Given the description of an element on the screen output the (x, y) to click on. 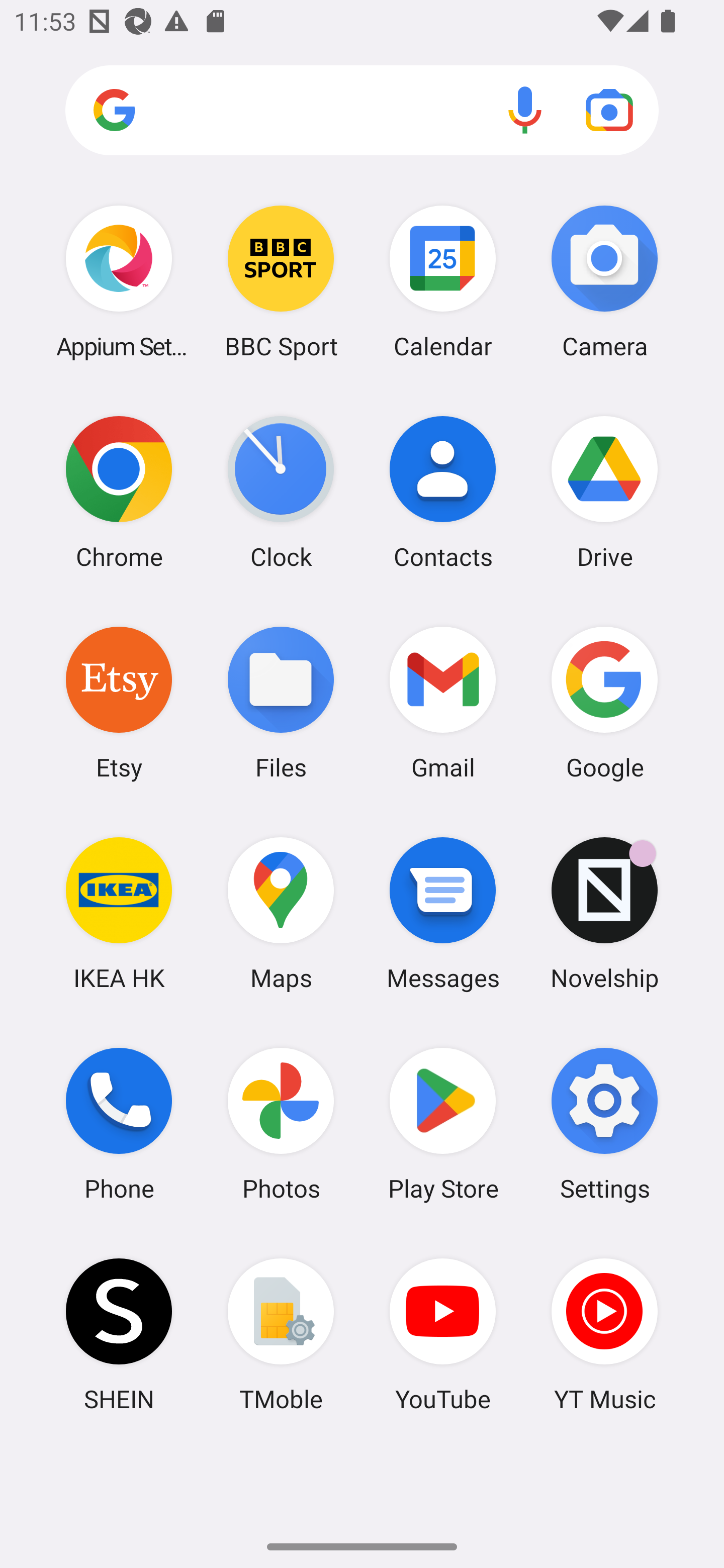
Search apps, web and more (361, 110)
Voice search (524, 109)
Google Lens (608, 109)
Appium Settings (118, 281)
BBC Sport (280, 281)
Calendar (443, 281)
Camera (604, 281)
Chrome (118, 492)
Clock (280, 492)
Contacts (443, 492)
Drive (604, 492)
Etsy (118, 702)
Files (280, 702)
Gmail (443, 702)
Google (604, 702)
IKEA HK (118, 913)
Maps (280, 913)
Messages (443, 913)
Novelship Novelship has 7 notifications (604, 913)
Phone (118, 1124)
Photos (280, 1124)
Play Store (443, 1124)
Settings (604, 1124)
SHEIN (118, 1334)
TMoble (280, 1334)
YouTube (443, 1334)
YT Music (604, 1334)
